Given the description of an element on the screen output the (x, y) to click on. 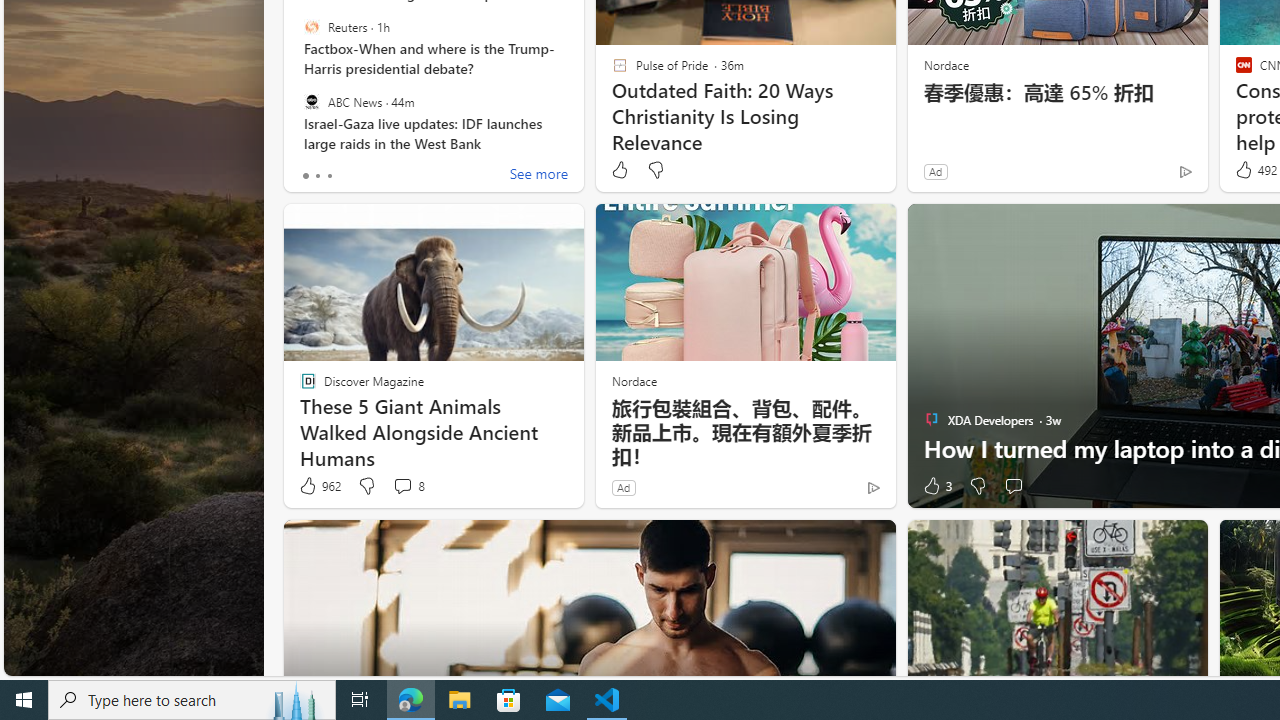
Like (619, 170)
Reuters (311, 27)
tab-0 (305, 175)
View comments 8 Comment (402, 485)
962 Like (319, 485)
tab-2 (328, 175)
3 Like (936, 485)
